Given the description of an element on the screen output the (x, y) to click on. 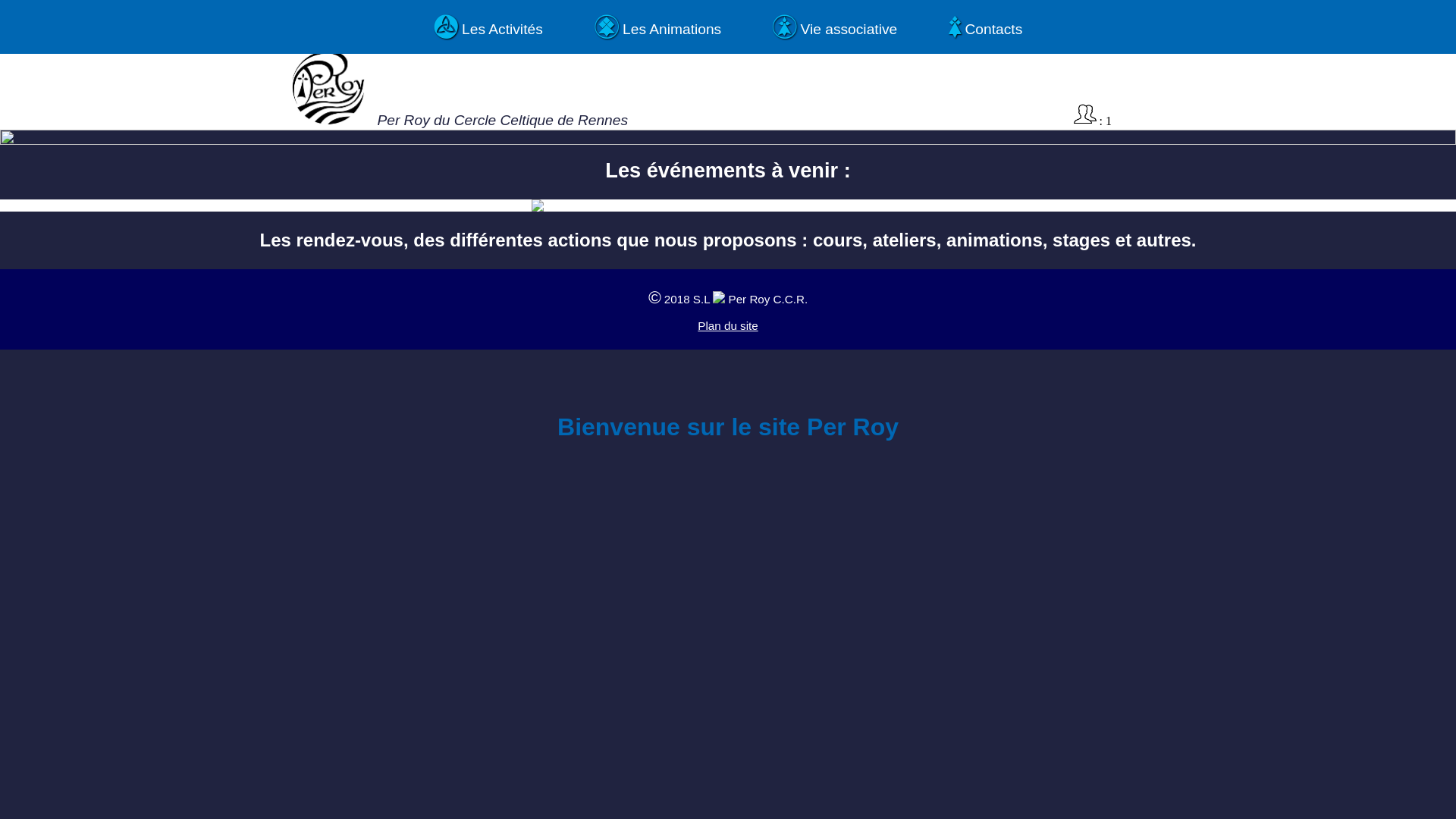
! Contacts Element type: text (985, 26)
* Vie associative Element type: text (834, 26)
Plan du site Element type: text (727, 325)
, Les Animations Element type: text (657, 26)
